Given the description of an element on the screen output the (x, y) to click on. 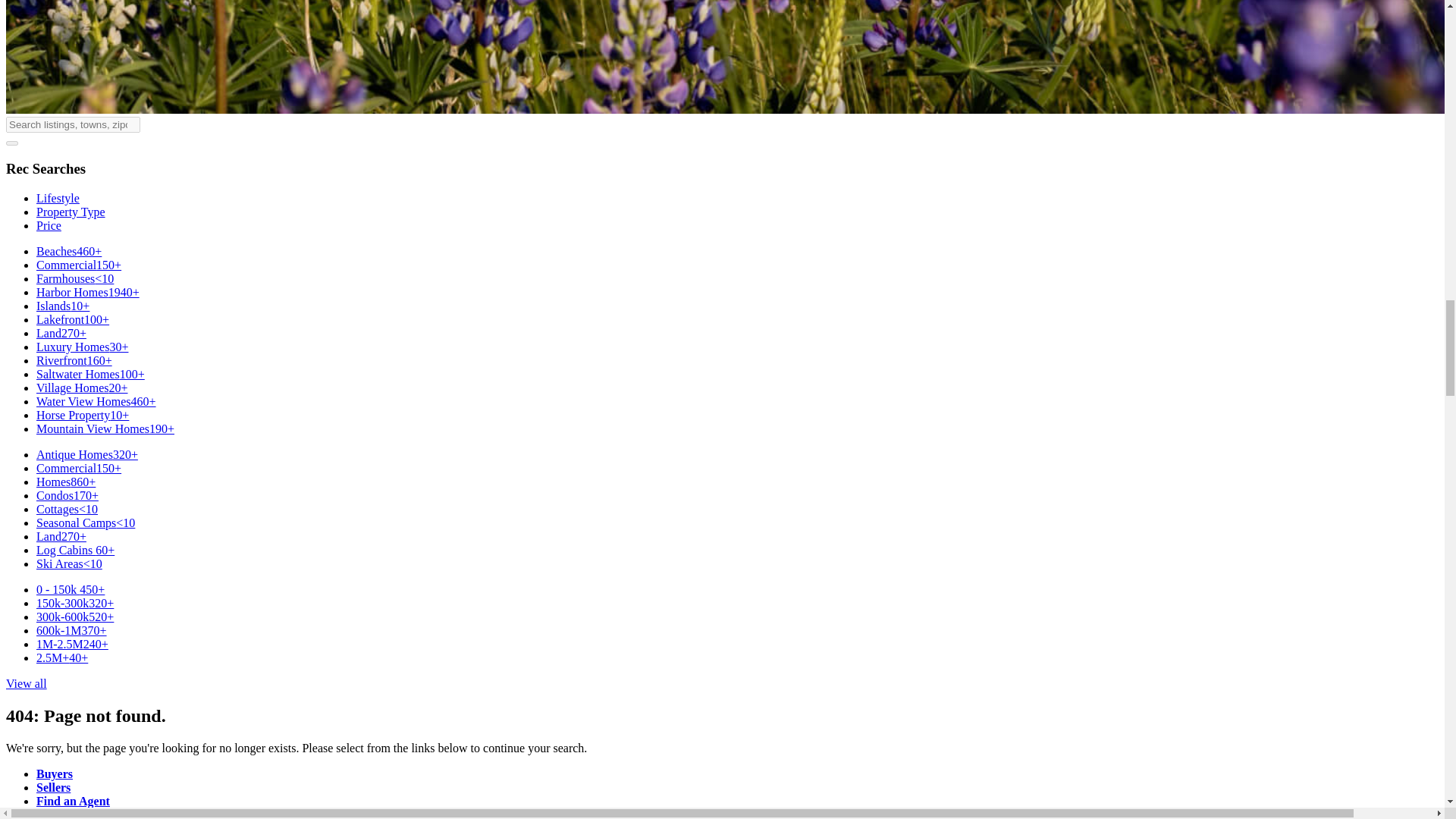
Maine Coastal Village Homes For Sale (82, 387)
Maine Single Family Homes For Sale (66, 481)
Maine Cottages For Sale (66, 508)
Maine Land For Sale (60, 332)
Maine Luxury Homes For Sale (82, 346)
Maine Beach Properties For Sale (68, 250)
Maine Saltwater Properties For Sale (90, 373)
Maine Commercial Properties (78, 264)
Maine Condos For Sale (67, 495)
Maine Seasonal Camps For Sale (85, 522)
Water View Homes (95, 400)
Traditional Maine Farmhouses For Sale (74, 278)
Antique Homes For Sale in Maine (87, 454)
Riverfront Properties For Sale in Maine (74, 359)
Harbor Homes For Sale in Maine (87, 291)
